Given the description of an element on the screen output the (x, y) to click on. 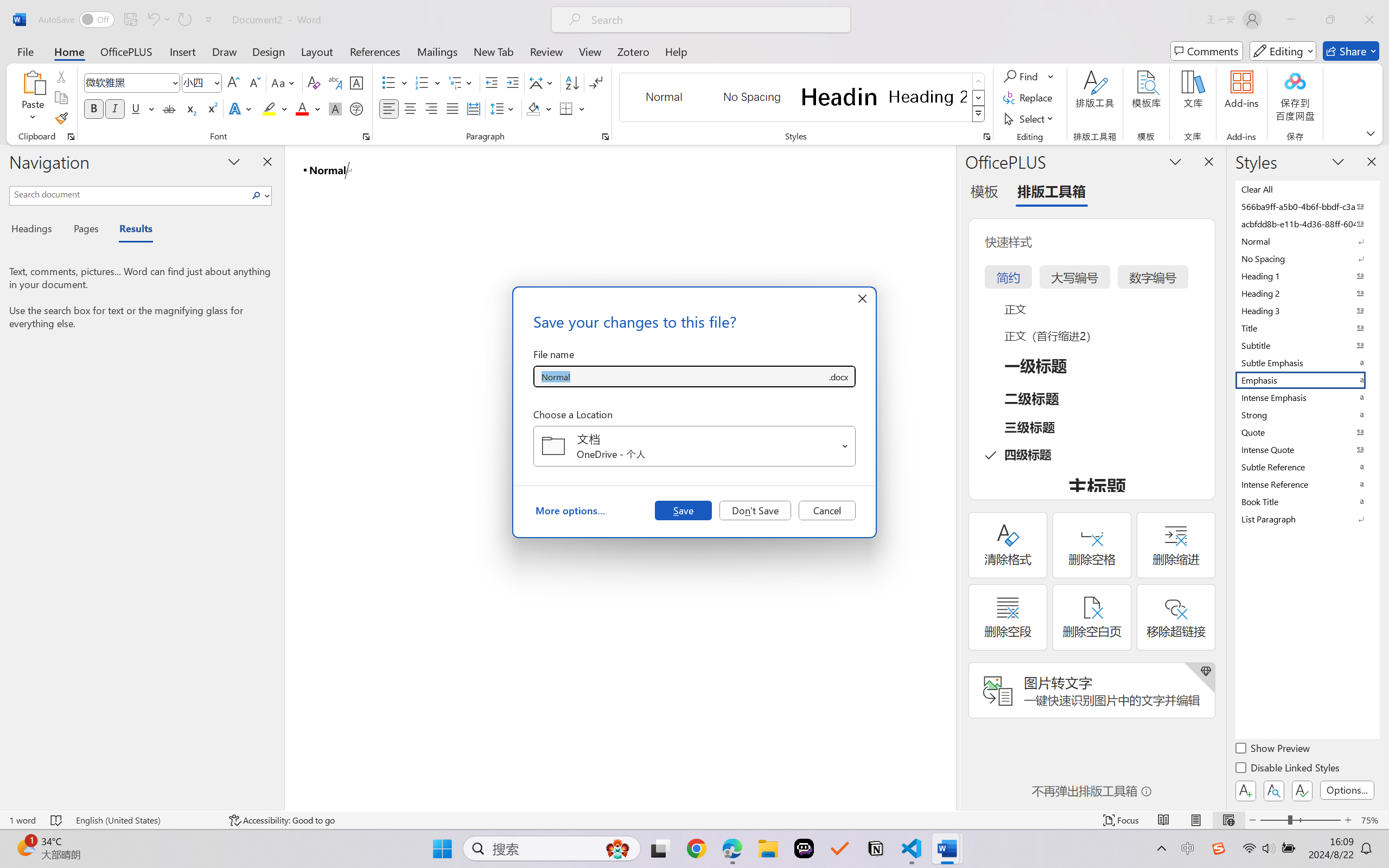
Home (69, 51)
Draw (224, 51)
Text Highlight Color Yellow (269, 108)
Paragraph... (605, 136)
Change Case (284, 82)
Paste (33, 81)
Row up (978, 81)
List Paragraph (1306, 518)
Underline (142, 108)
AutomationID: DynamicSearchBoxGleamImage (617, 848)
Borders (571, 108)
Save (682, 509)
